Given the description of an element on the screen output the (x, y) to click on. 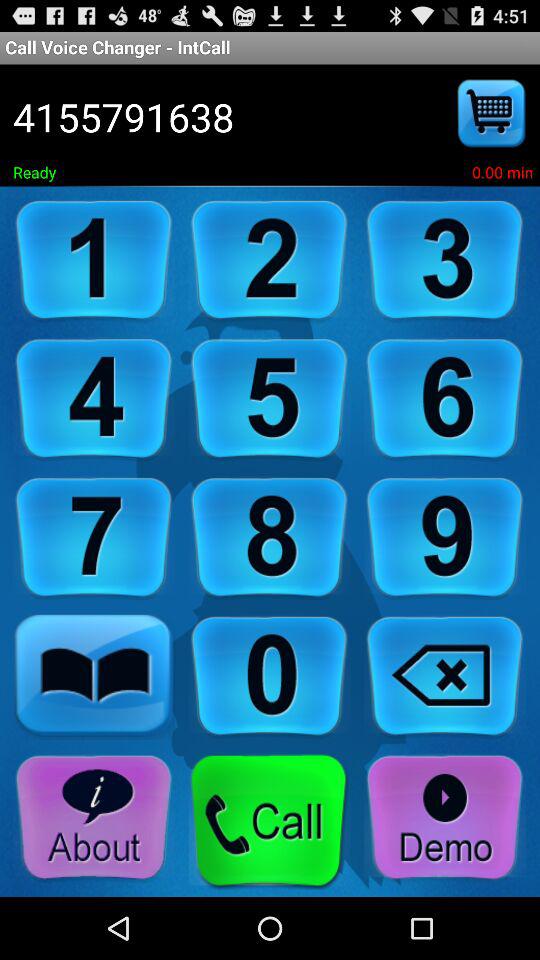
insert number 9 (445, 538)
